Given the description of an element on the screen output the (x, y) to click on. 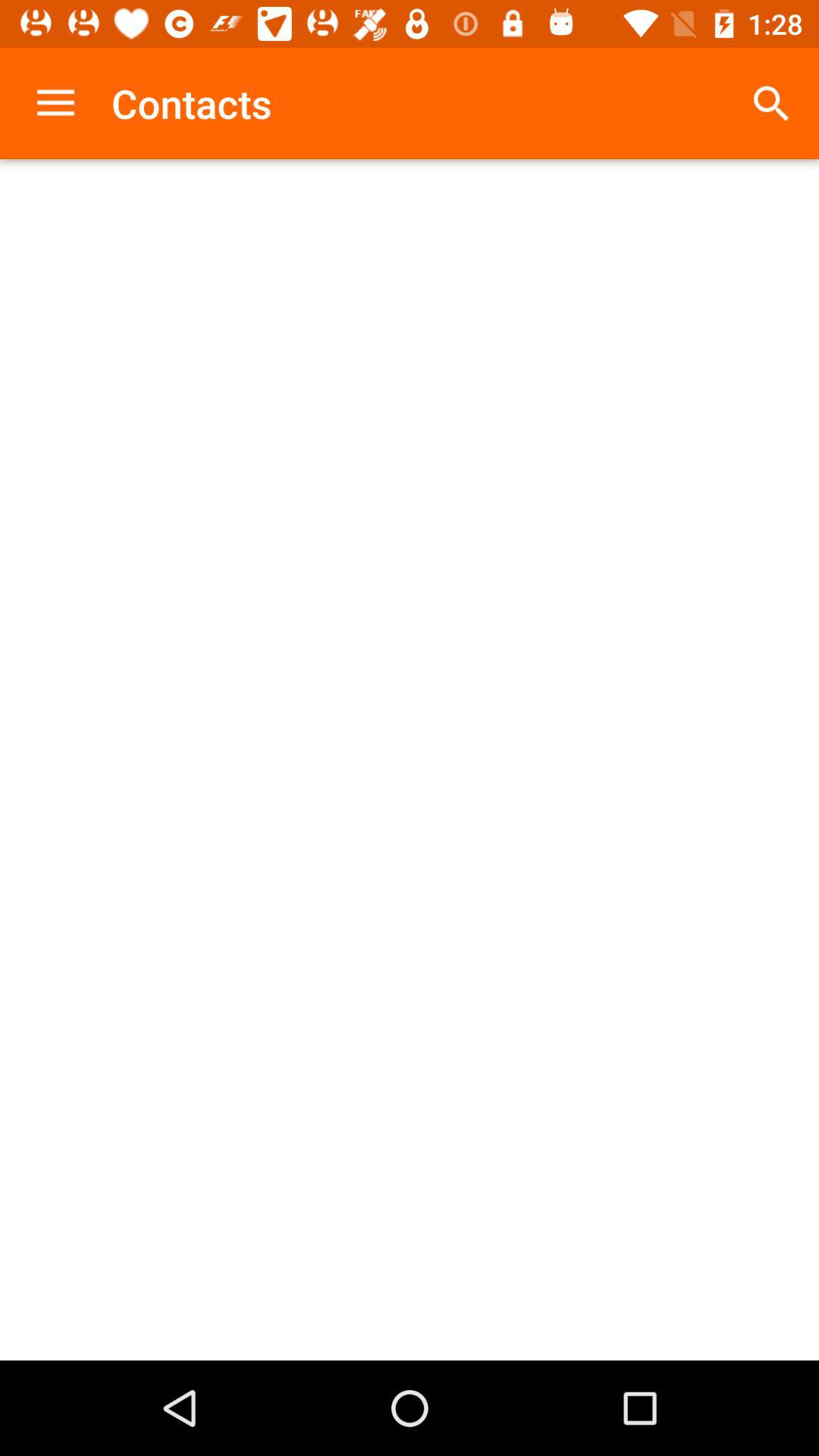
choose item at the center (409, 759)
